Given the description of an element on the screen output the (x, y) to click on. 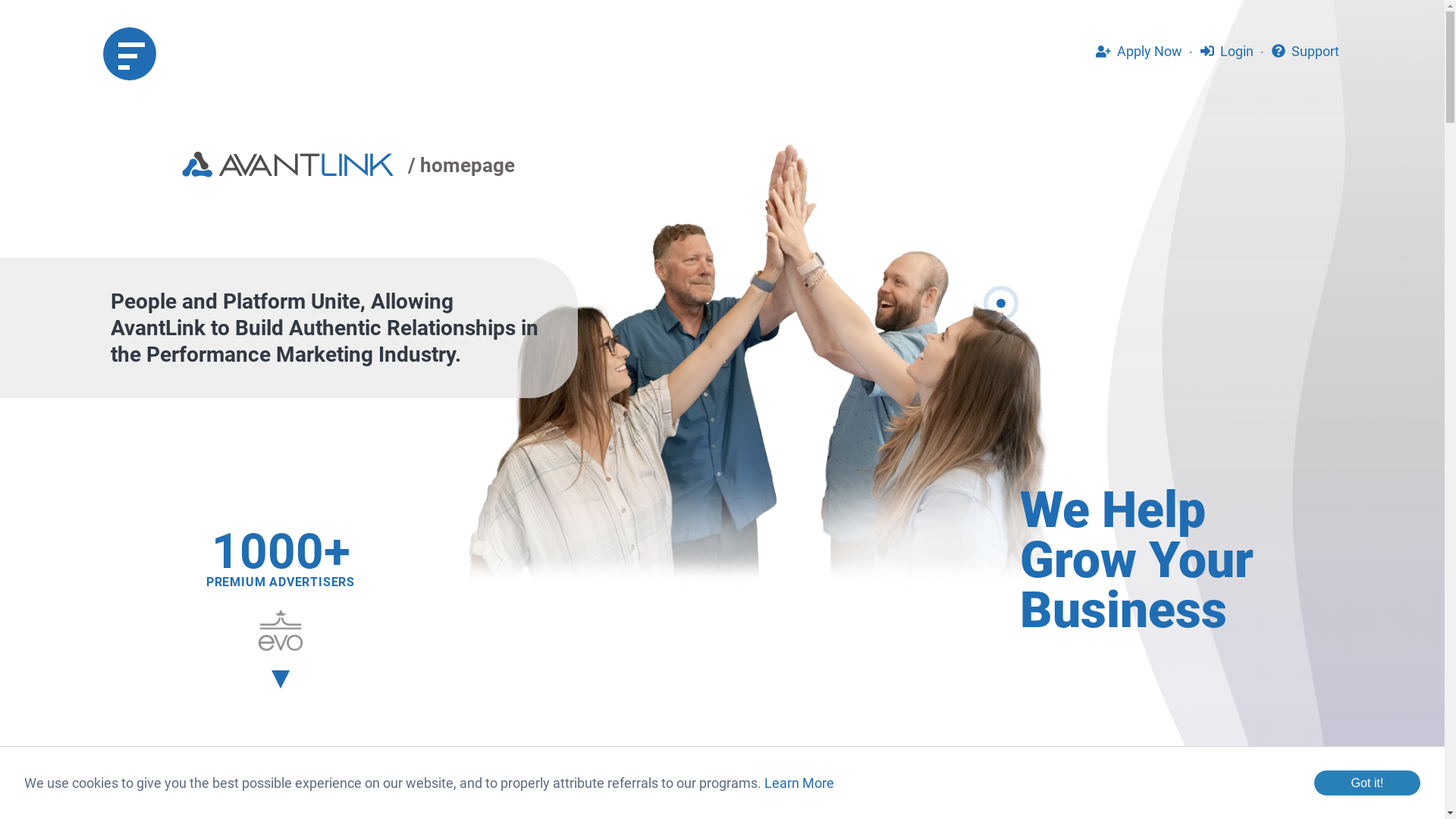
Apply Now Element type: text (1138, 51)
Support Element type: text (1305, 51)
Login Element type: text (1226, 51)
Learn More Element type: text (799, 782)
Got it! Element type: text (1367, 782)
